Given the description of an element on the screen output the (x, y) to click on. 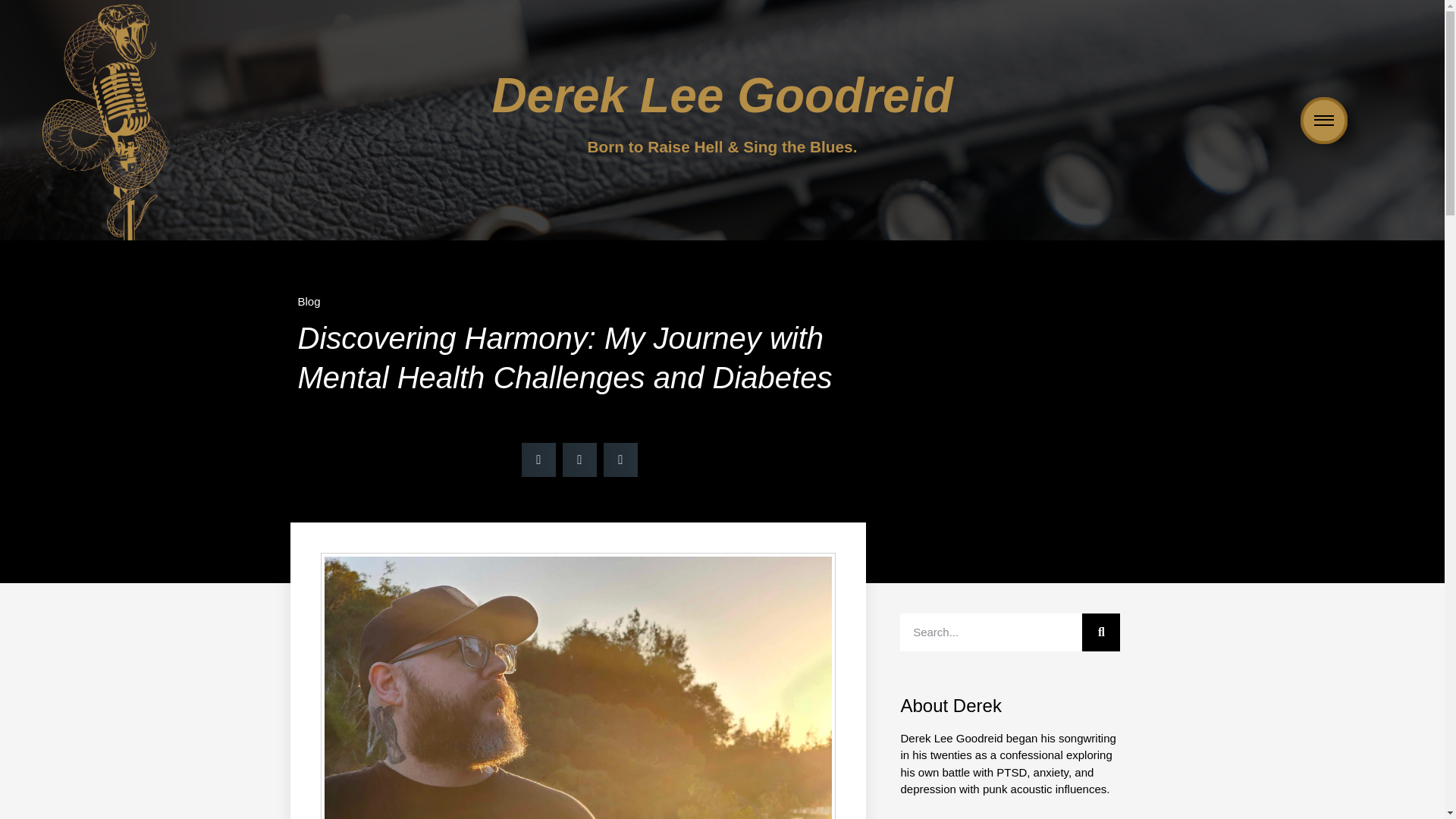
Blog (308, 300)
